Given the description of an element on the screen output the (x, y) to click on. 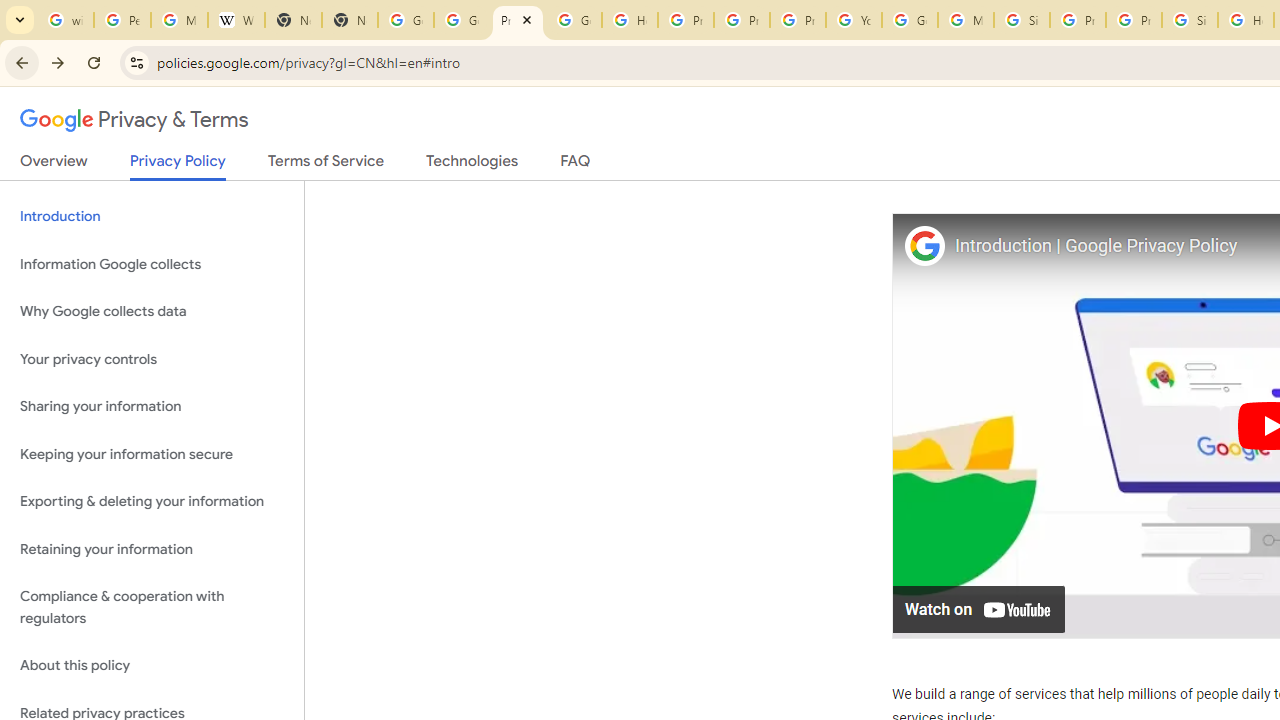
Information Google collects (152, 263)
Sign in - Google Accounts (1021, 20)
FAQ (575, 165)
New Tab (293, 20)
Exporting & deleting your information (152, 502)
Privacy & Terms (134, 120)
Sign in - Google Accounts (1190, 20)
New Tab (349, 20)
